Given the description of an element on the screen output the (x, y) to click on. 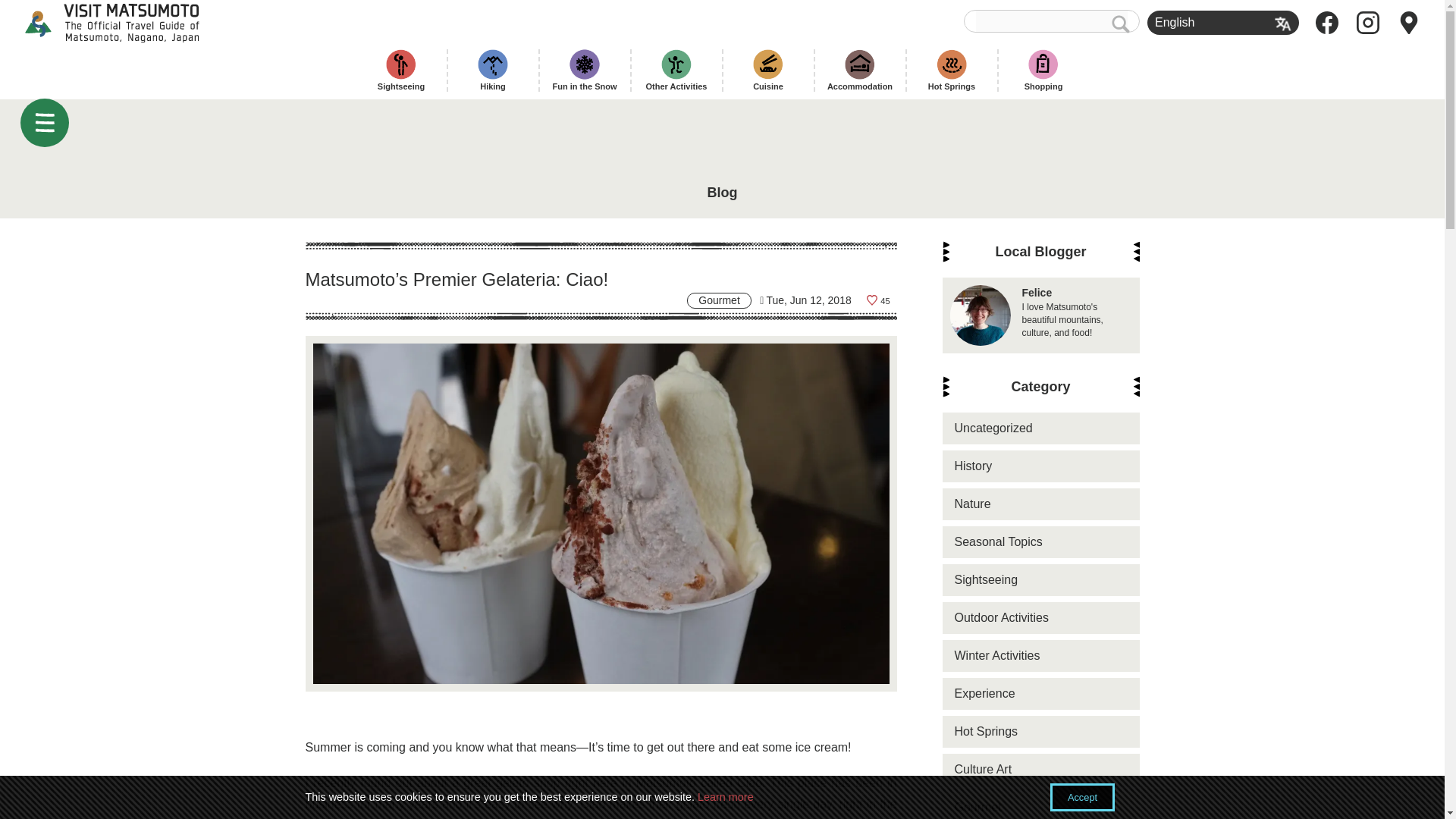
Sightseeing (1040, 580)
Shopping (1042, 69)
Seasonal Topics (1040, 541)
Like (878, 300)
Sightseeing (401, 69)
Outdoor Activities (1040, 617)
Accommodation (859, 69)
Culture Art (1040, 769)
Uncategorized (1040, 428)
Gourmet (1040, 805)
History (1040, 466)
Nature (1040, 504)
Fun in the Snow (584, 69)
Hot Springs (951, 69)
